Given the description of an element on the screen output the (x, y) to click on. 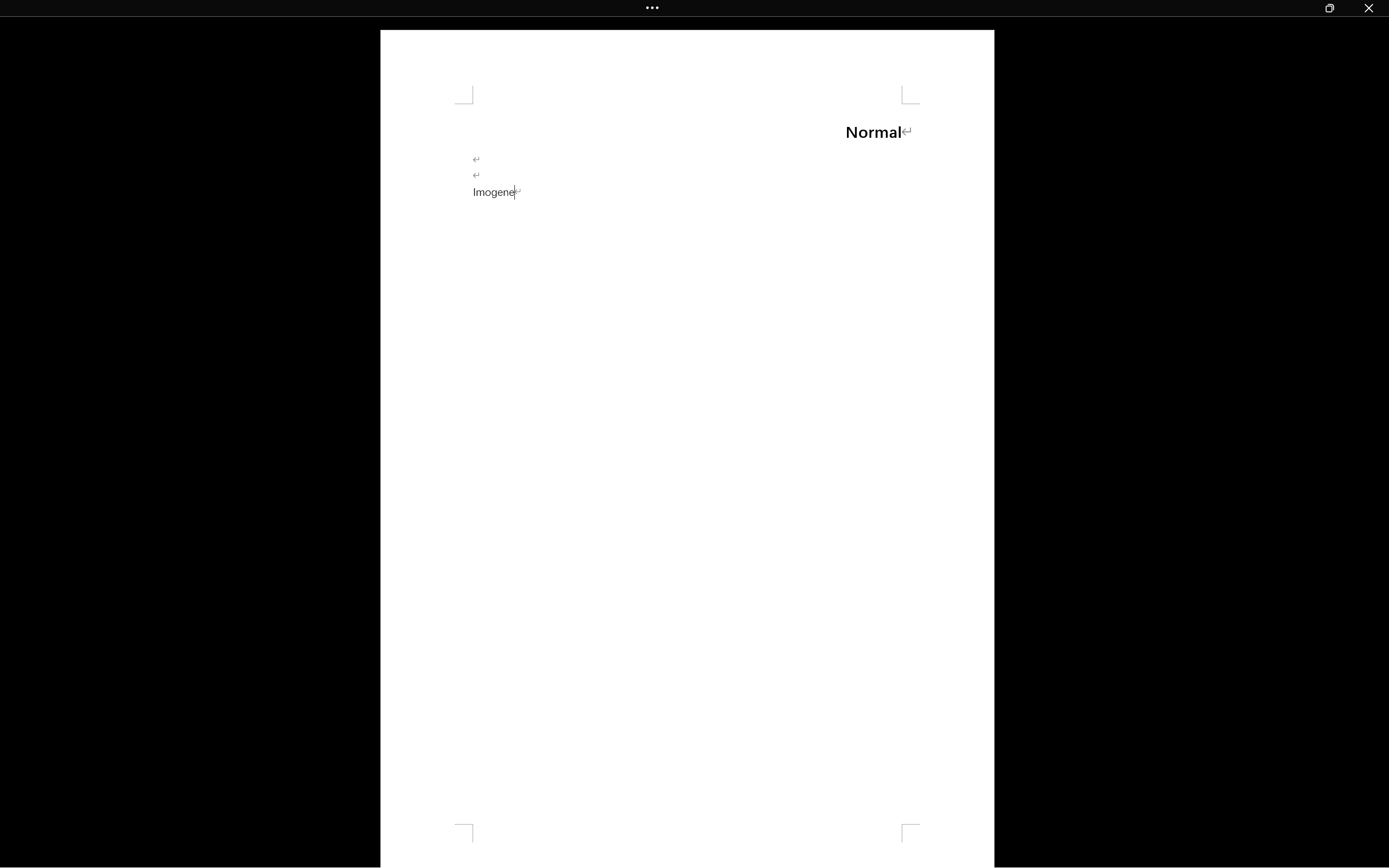
Close this message (1379, 105)
From Current Slide... (121, 62)
